Given the description of an element on the screen output the (x, y) to click on. 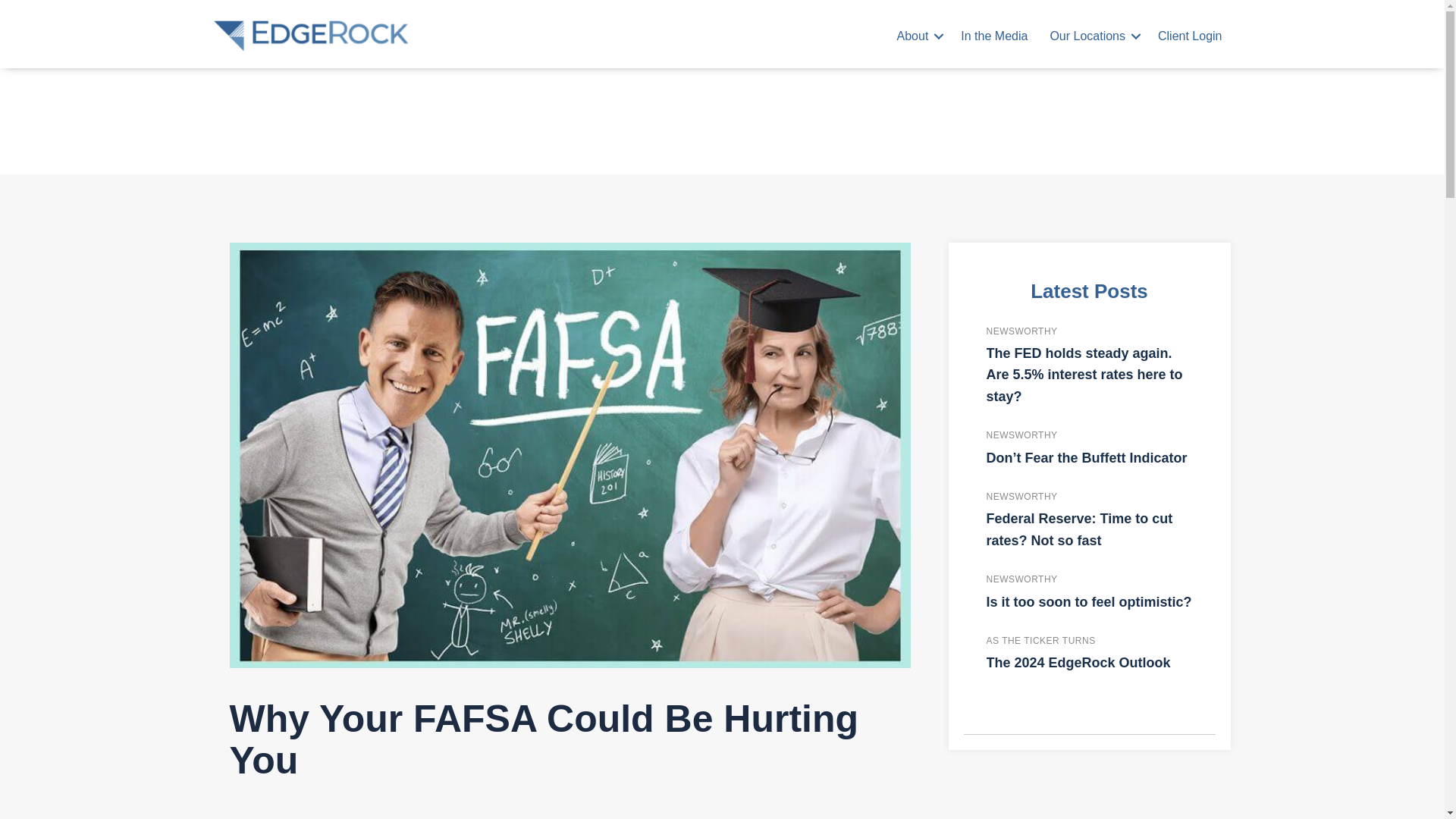
In the Media (994, 36)
About (918, 36)
logo web header (310, 35)
Federal Reserve: Time to cut rates? Not so fast (1078, 529)
The 2024 EdgeRock Outlook (1077, 662)
Is it too soon to feel optimistic? (1088, 601)
Our Locations (1093, 36)
The 2024 EdgeRock Outlook (1077, 662)
Federal Reserve: Time to cut rates? Not so fast (1078, 529)
Is it too soon to feel optimistic? (1088, 601)
